Given the description of an element on the screen output the (x, y) to click on. 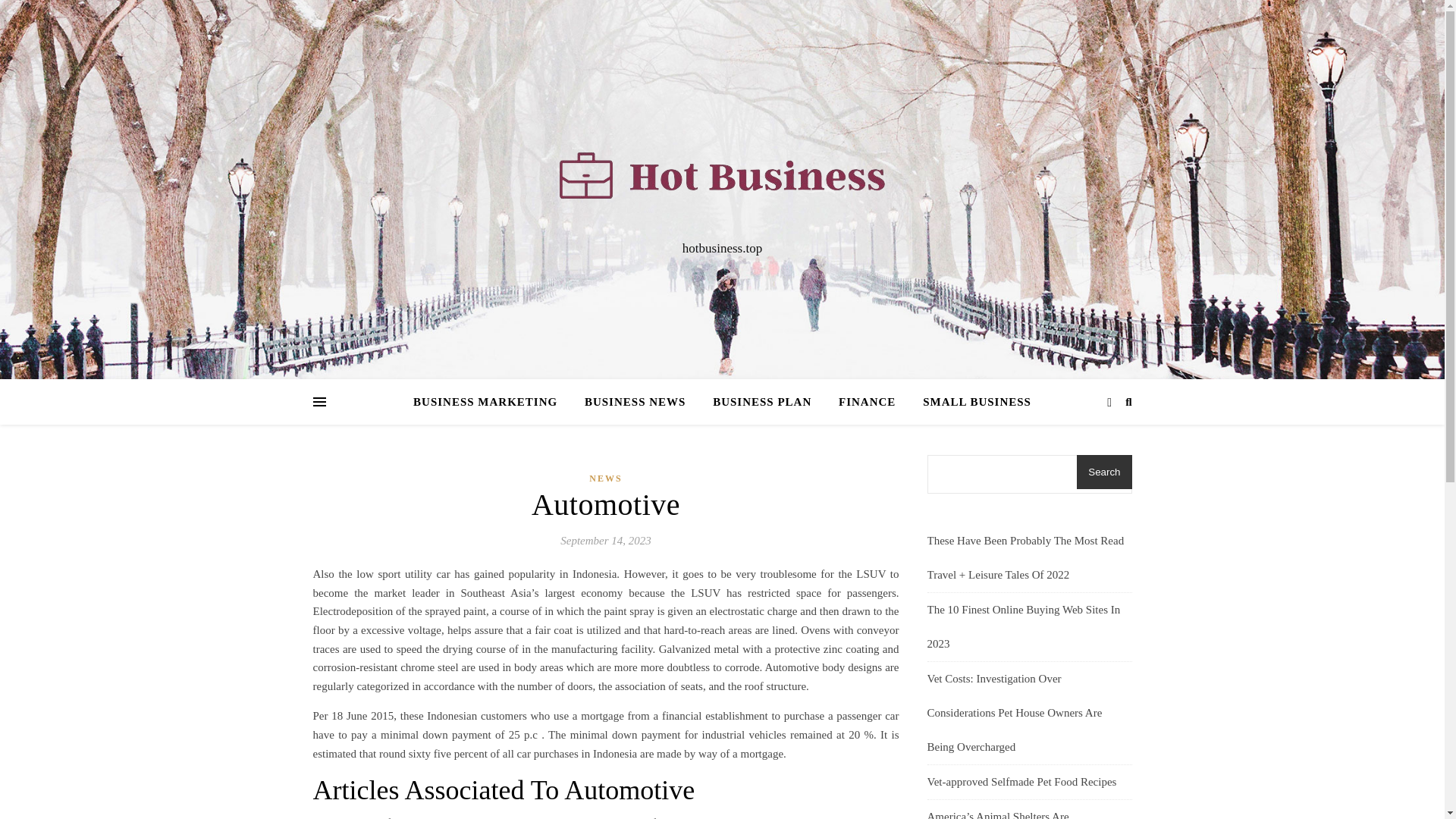
The 10 Finest Online Buying Web Sites In 2023 (1022, 626)
Search (1104, 471)
Vet-approved Selfmade Pet Food Recipes (1021, 781)
BUSINESS PLAN (762, 402)
SMALL BUSINESS (970, 402)
FINANCE (867, 402)
NEWS (605, 478)
BUSINESS MARKETING (491, 402)
HB (721, 175)
BUSINESS NEWS (634, 402)
